Given the description of an element on the screen output the (x, y) to click on. 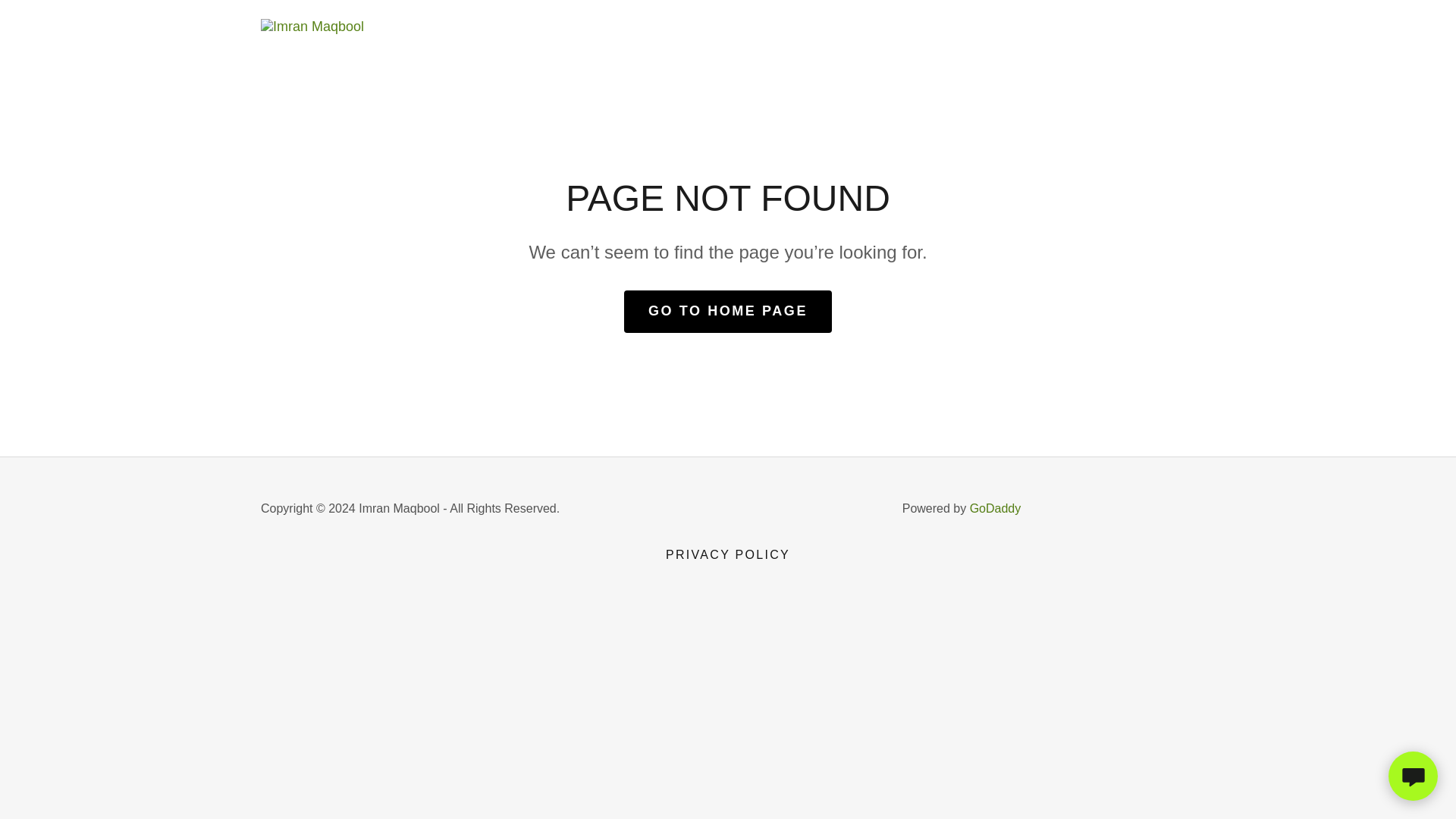
Imran Maqbool (312, 25)
PRIVACY POLICY (727, 555)
GO TO HOME PAGE (727, 311)
GoDaddy (995, 508)
